Given the description of an element on the screen output the (x, y) to click on. 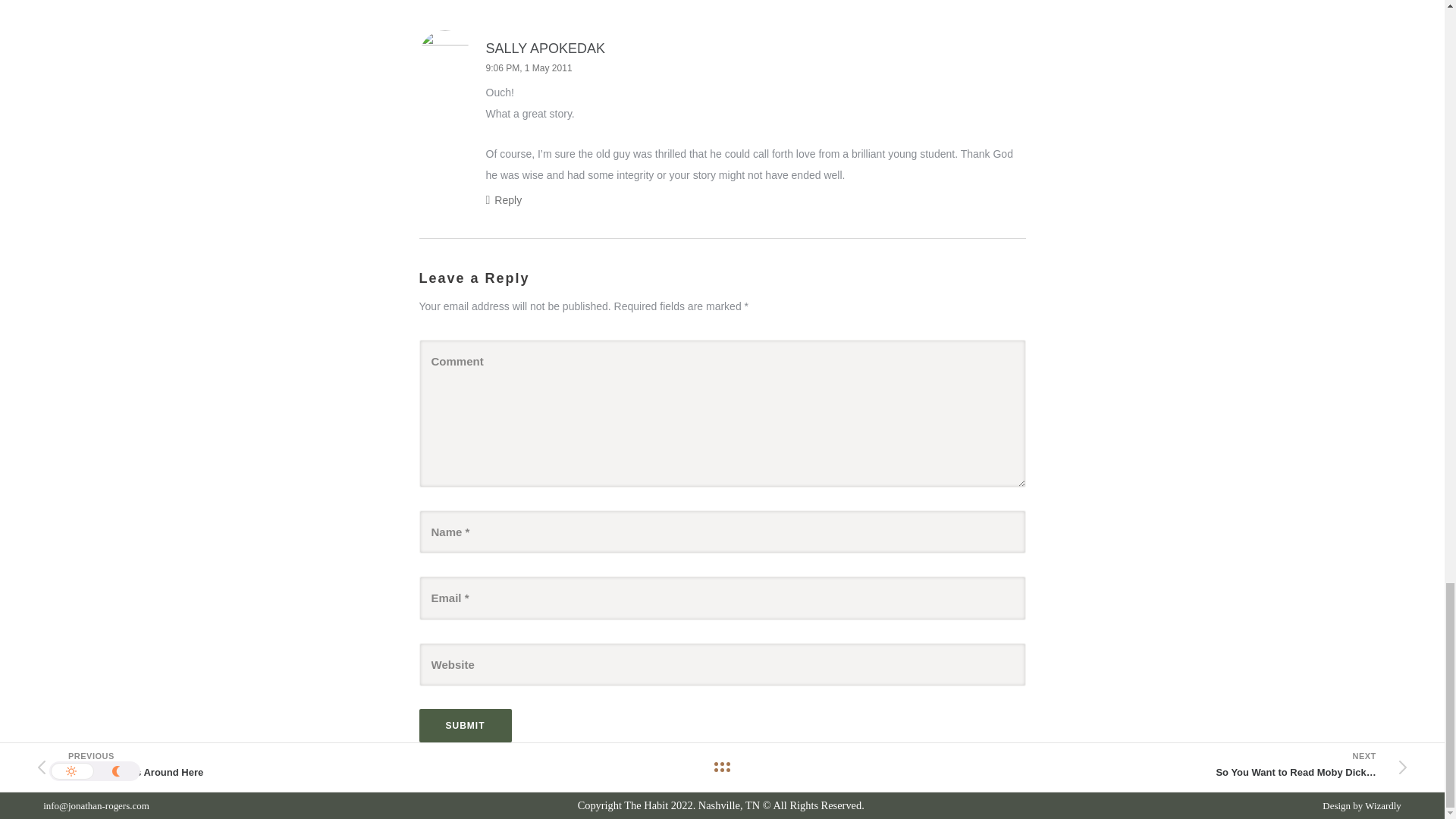
Submit (465, 725)
